Given the description of an element on the screen output the (x, y) to click on. 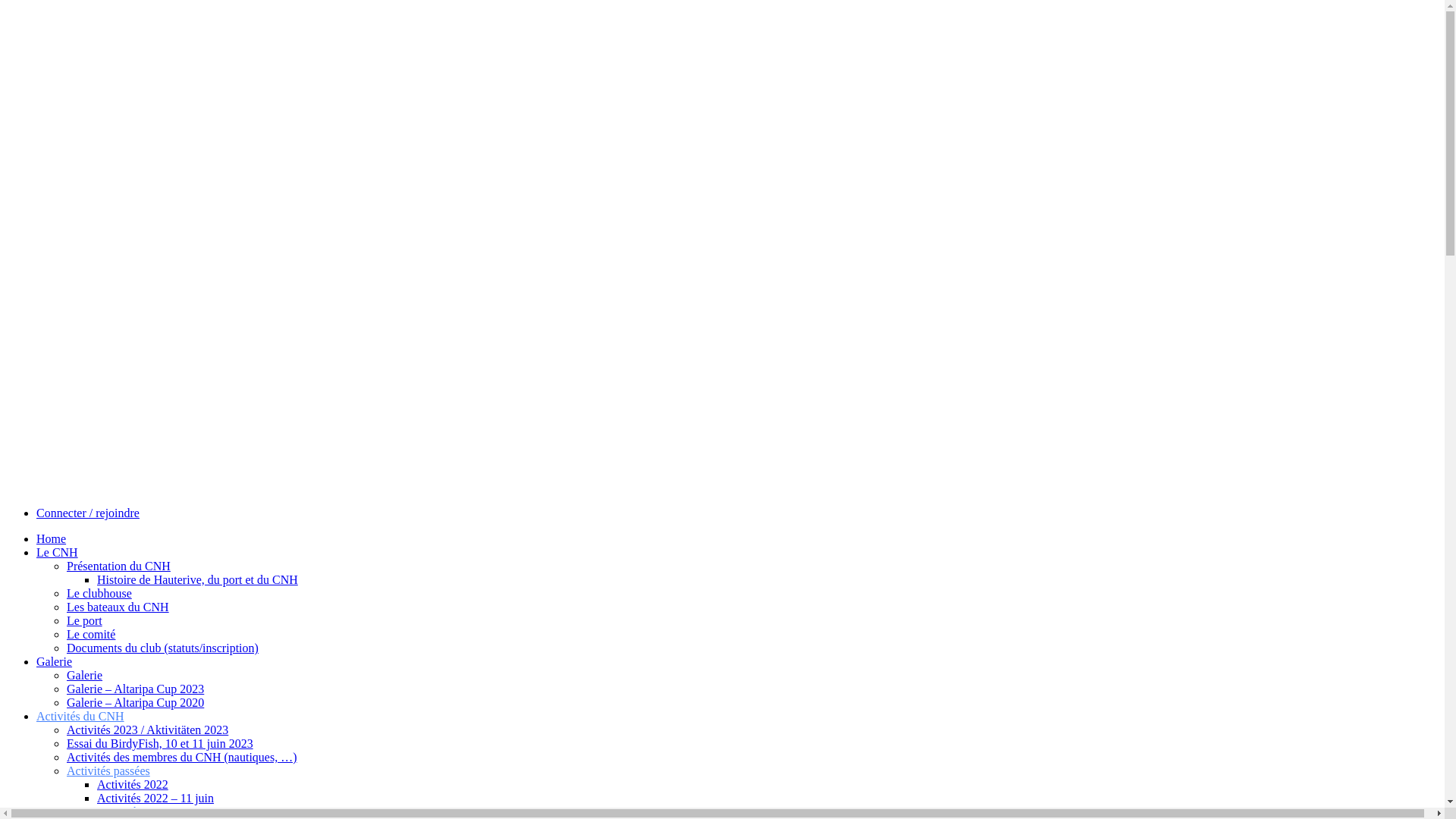
Connecter / rejoindre Element type: text (87, 512)
Galerie Element type: text (54, 661)
Galerie Element type: text (84, 674)
Essai du BirdyFish, 10 et 11 juin 2023 Element type: text (159, 743)
Les bateaux du CNH Element type: text (117, 606)
Documents du club (statuts/inscription) Element type: text (162, 647)
Le CNH Element type: text (57, 552)
Le clubhouse Element type: text (98, 592)
Home Element type: text (50, 538)
Histoire de Hauterive, du port et du CNH Element type: text (197, 579)
Le port Element type: text (84, 620)
